Given the description of an element on the screen output the (x, y) to click on. 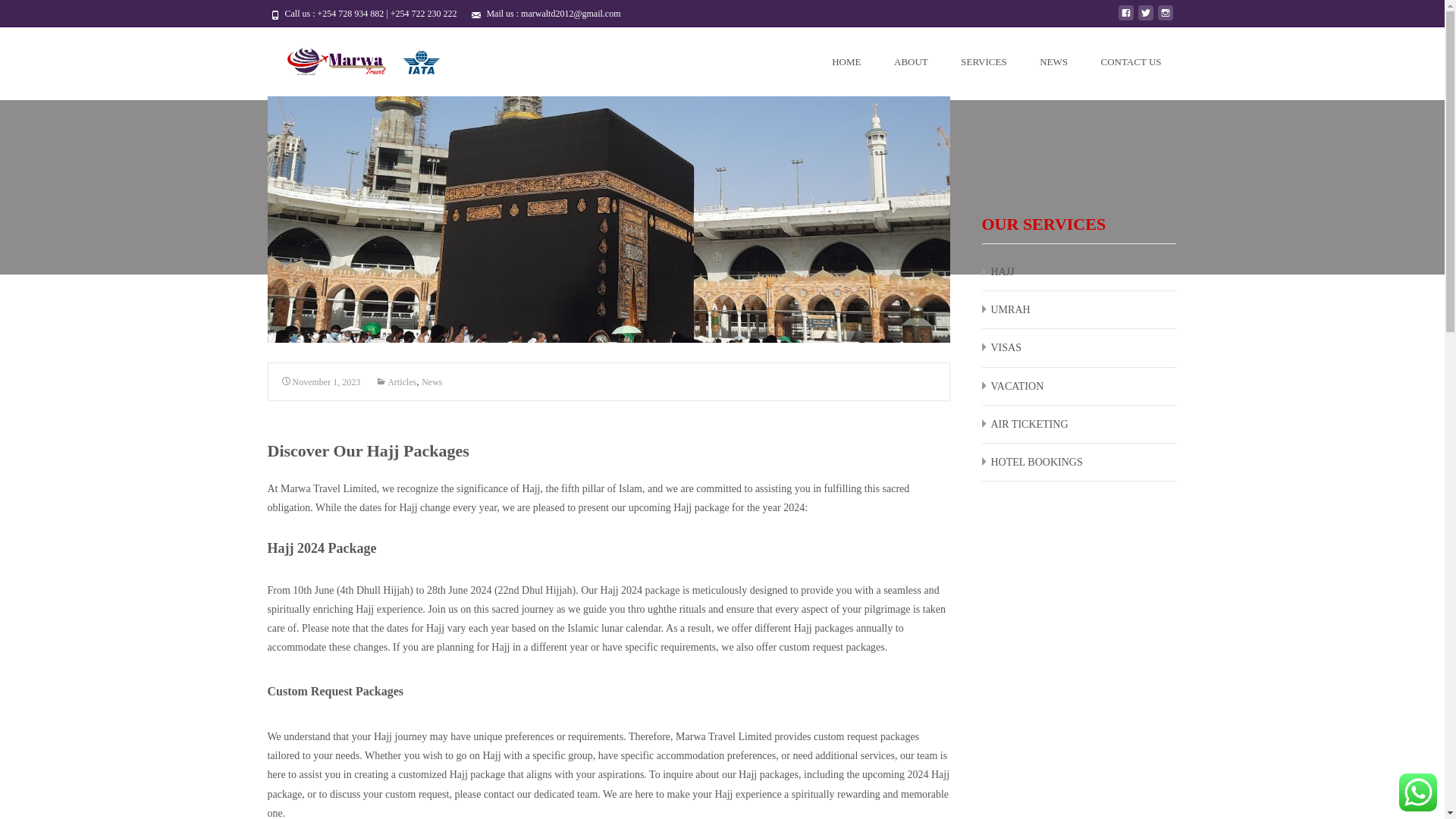
November 1, 2023 (321, 381)
twitter (1145, 18)
HAJJ (1001, 271)
ABOUT (911, 61)
Permalink to Traveling dates for hujjajs (321, 381)
instagram (1164, 18)
News (432, 381)
facebook (1125, 18)
Articles (395, 381)
VACATION (1016, 386)
Marwa Travels (361, 57)
VISAS (1005, 347)
